Given the description of an element on the screen output the (x, y) to click on. 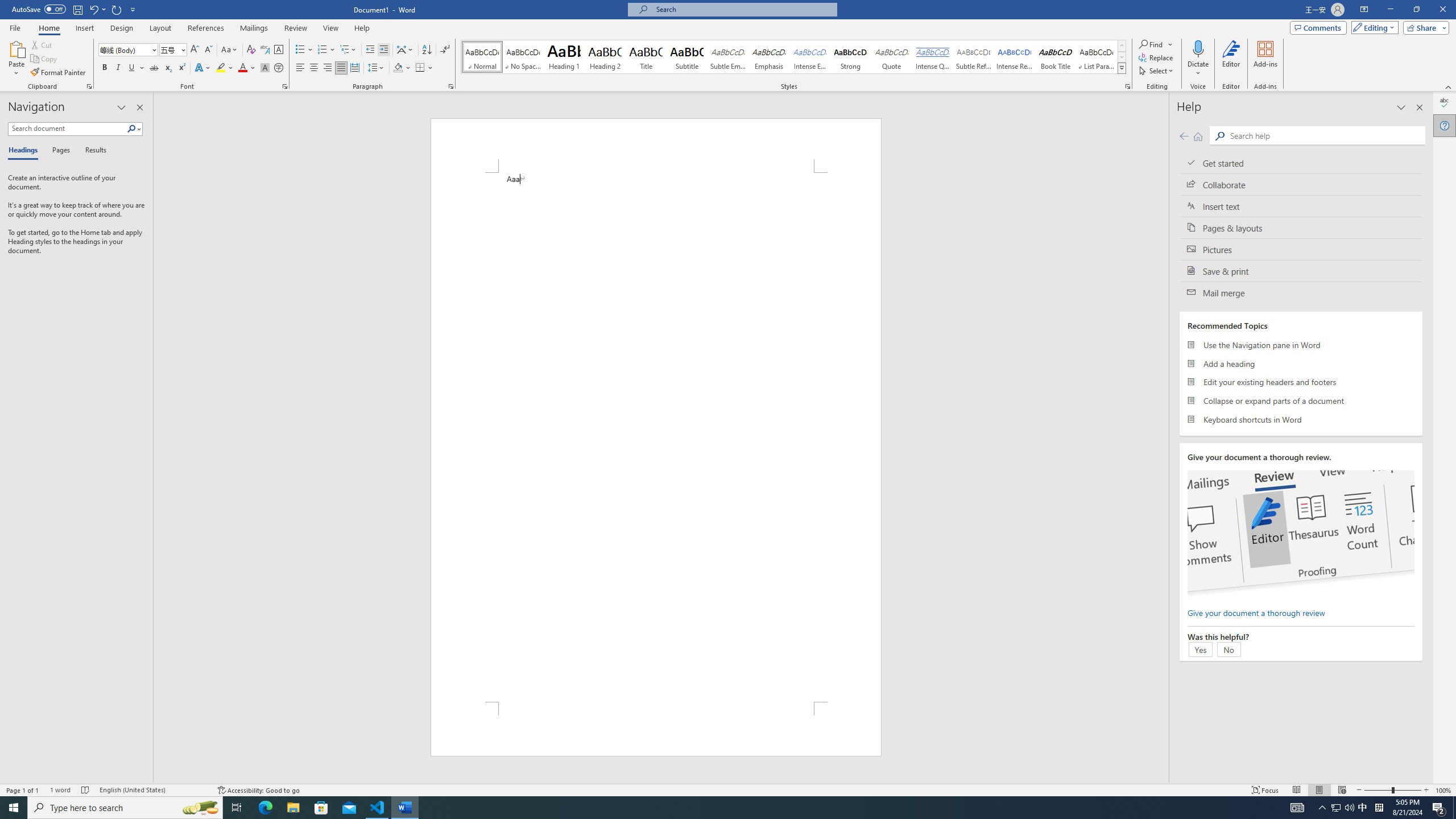
Edit your existing headers and footers (1300, 381)
Zoom 100% (1443, 790)
Collaborate (1300, 184)
